Given the description of an element on the screen output the (x, y) to click on. 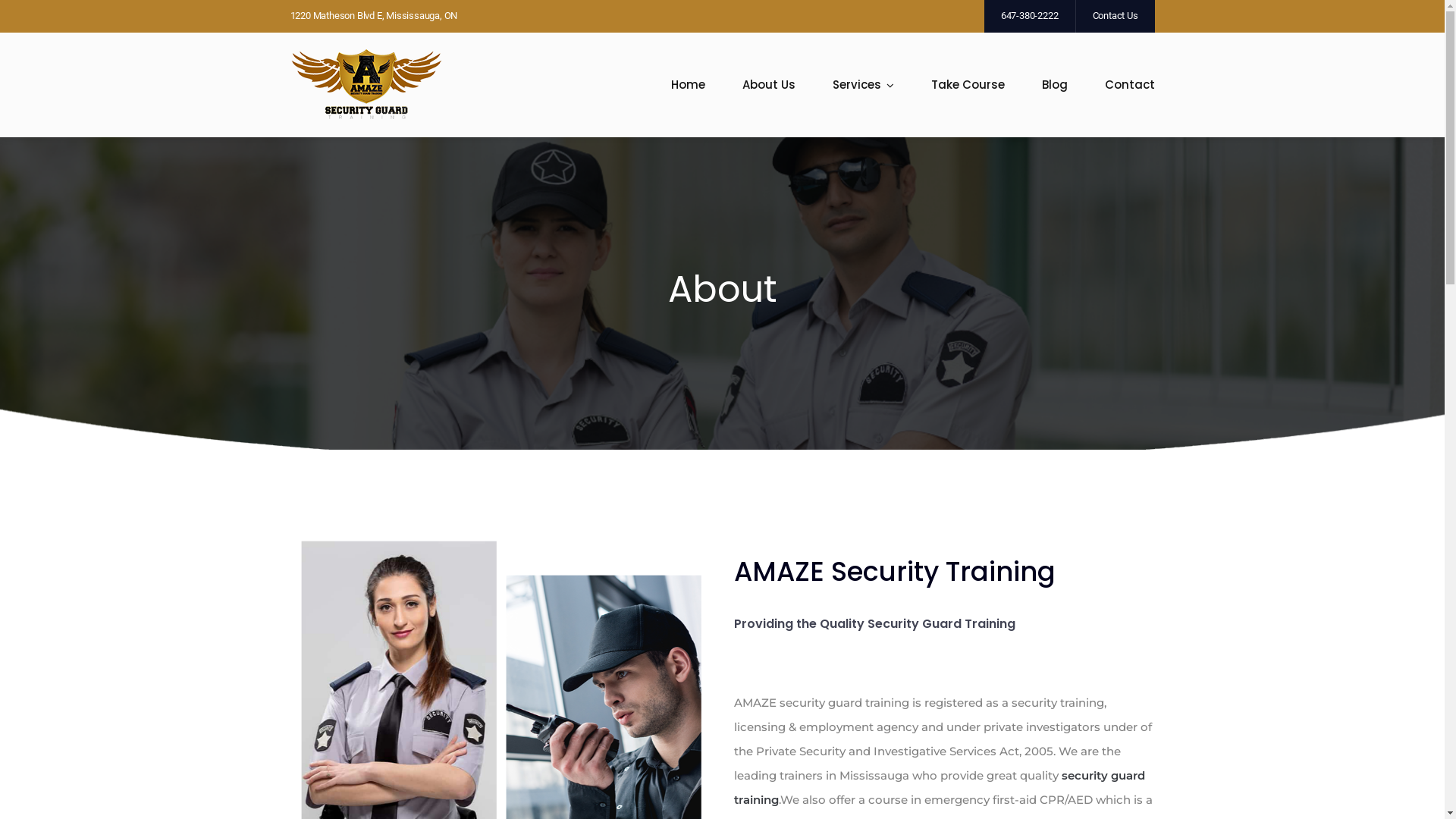
Take Course Element type: text (967, 86)
About Us Element type: text (767, 86)
Home Element type: text (687, 86)
Services Element type: text (863, 86)
647-380-2222 Element type: text (1030, 16)
Blog Element type: text (1054, 86)
Contact Element type: text (1129, 86)
Contact Us Element type: text (1114, 16)
security guard training Element type: text (939, 787)
